Given the description of an element on the screen output the (x, y) to click on. 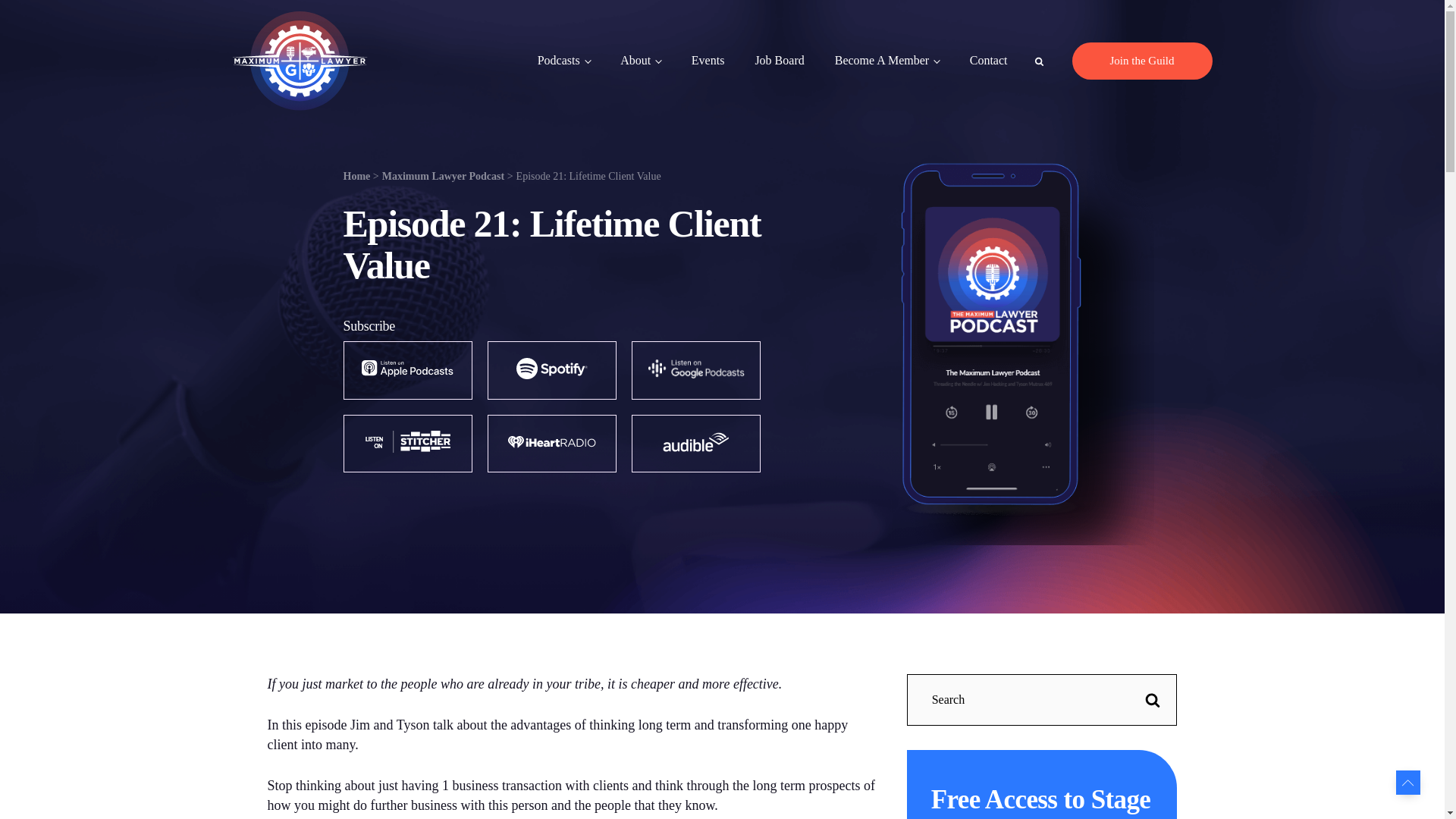
Join the Guild (1141, 60)
Contact (981, 60)
Home (355, 175)
Maximum Lawyer Podcast (443, 175)
Breadcrumb link to Maximum Lawyer Podcast (443, 175)
About (641, 60)
Become A Member (887, 60)
Podcasts (563, 60)
Job Board (778, 60)
Breadcrumb link to Home (355, 175)
Events (708, 60)
